Given the description of an element on the screen output the (x, y) to click on. 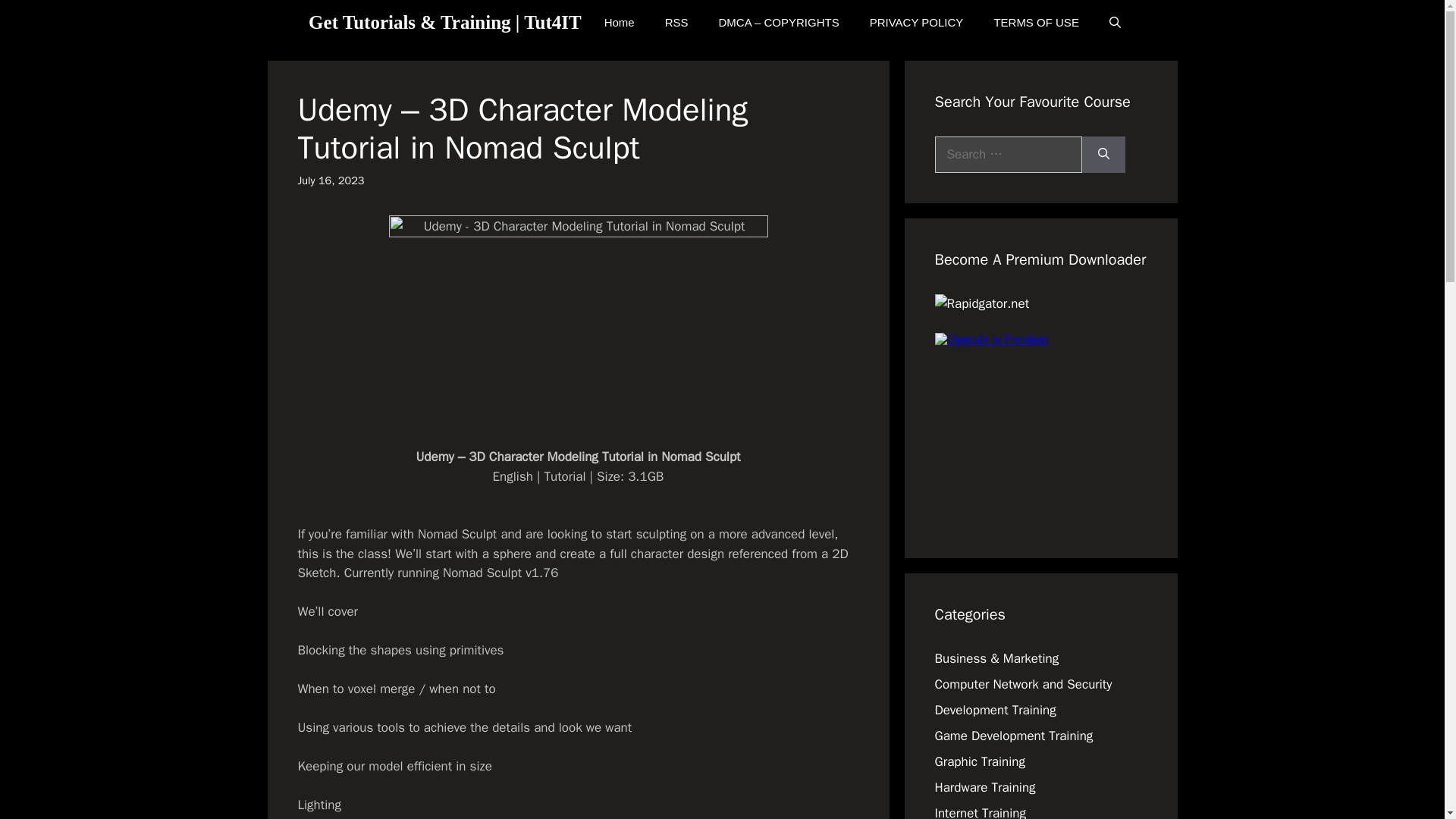
Development Training (994, 709)
Home (619, 22)
PRIVACY POLICY (916, 22)
Hardware Training (984, 787)
Search for: (1007, 154)
Computer Network and Security (1023, 684)
TERMS OF USE (1036, 22)
Game Development Training (1013, 735)
Graphic Training (979, 761)
Udemy - 3D Character Modeling Tutorial in Nomad Sculpt (577, 321)
Internet Training (980, 812)
RSS (676, 22)
